Given the description of an element on the screen output the (x, y) to click on. 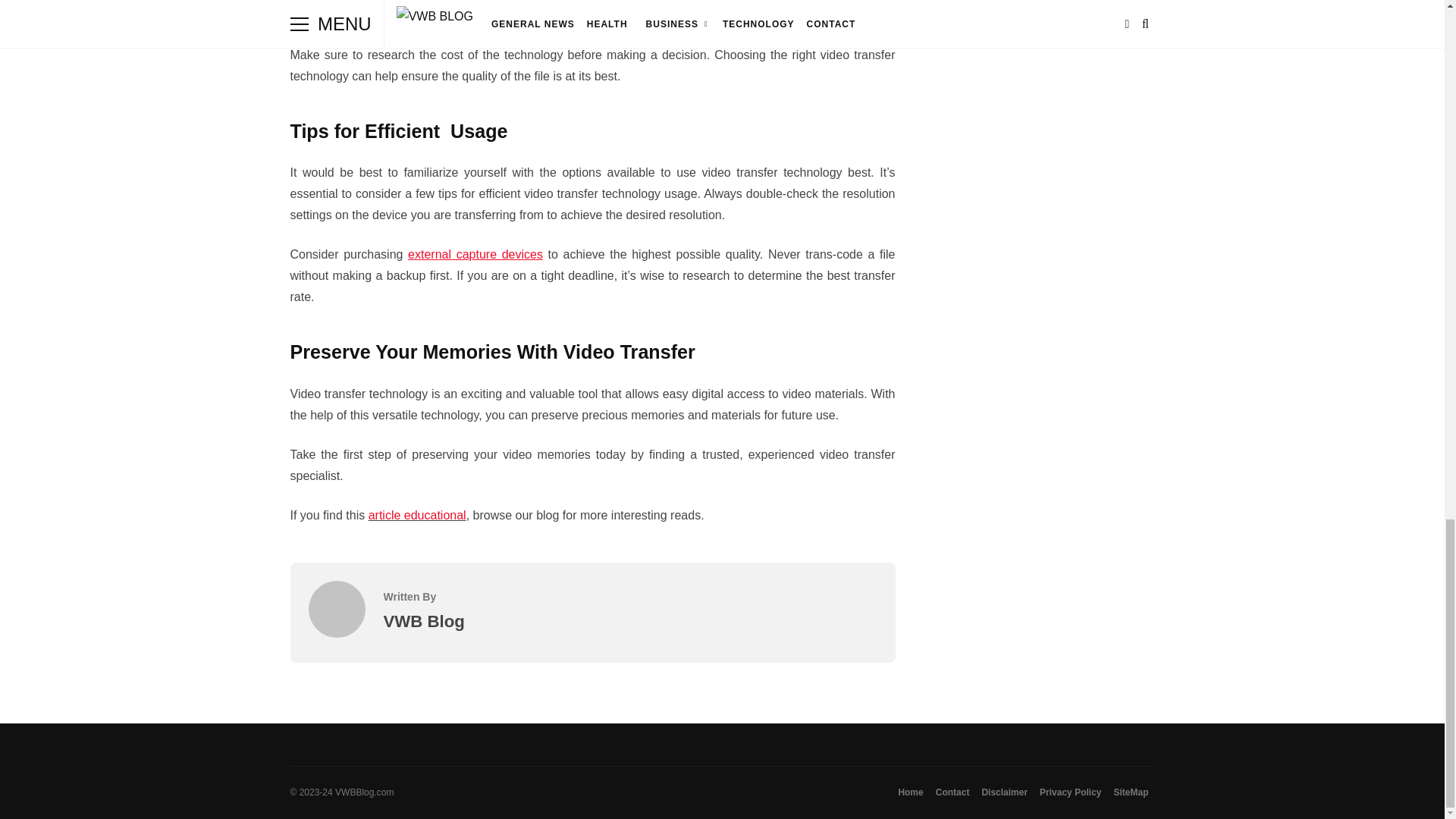
Posts by VWB Blog (424, 620)
VWB Blog (336, 633)
